Given the description of an element on the screen output the (x, y) to click on. 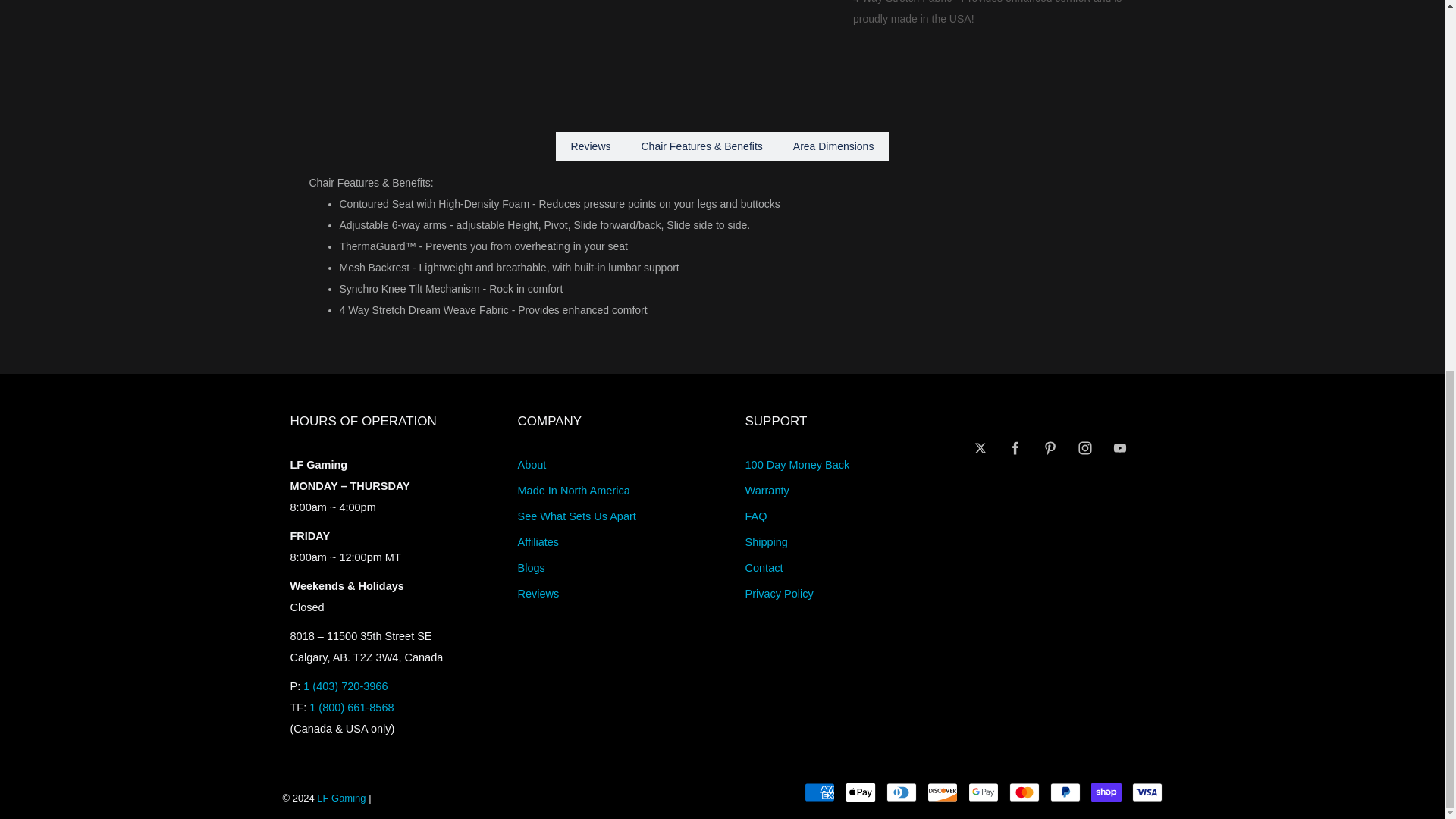
PayPal (1064, 792)
Shop Pay (1105, 792)
Visa (1146, 792)
Mastercard (1024, 792)
Google Pay (983, 792)
Diners Club (901, 792)
American Express (819, 792)
Discover (942, 792)
Apple Pay (860, 792)
